Given the description of an element on the screen output the (x, y) to click on. 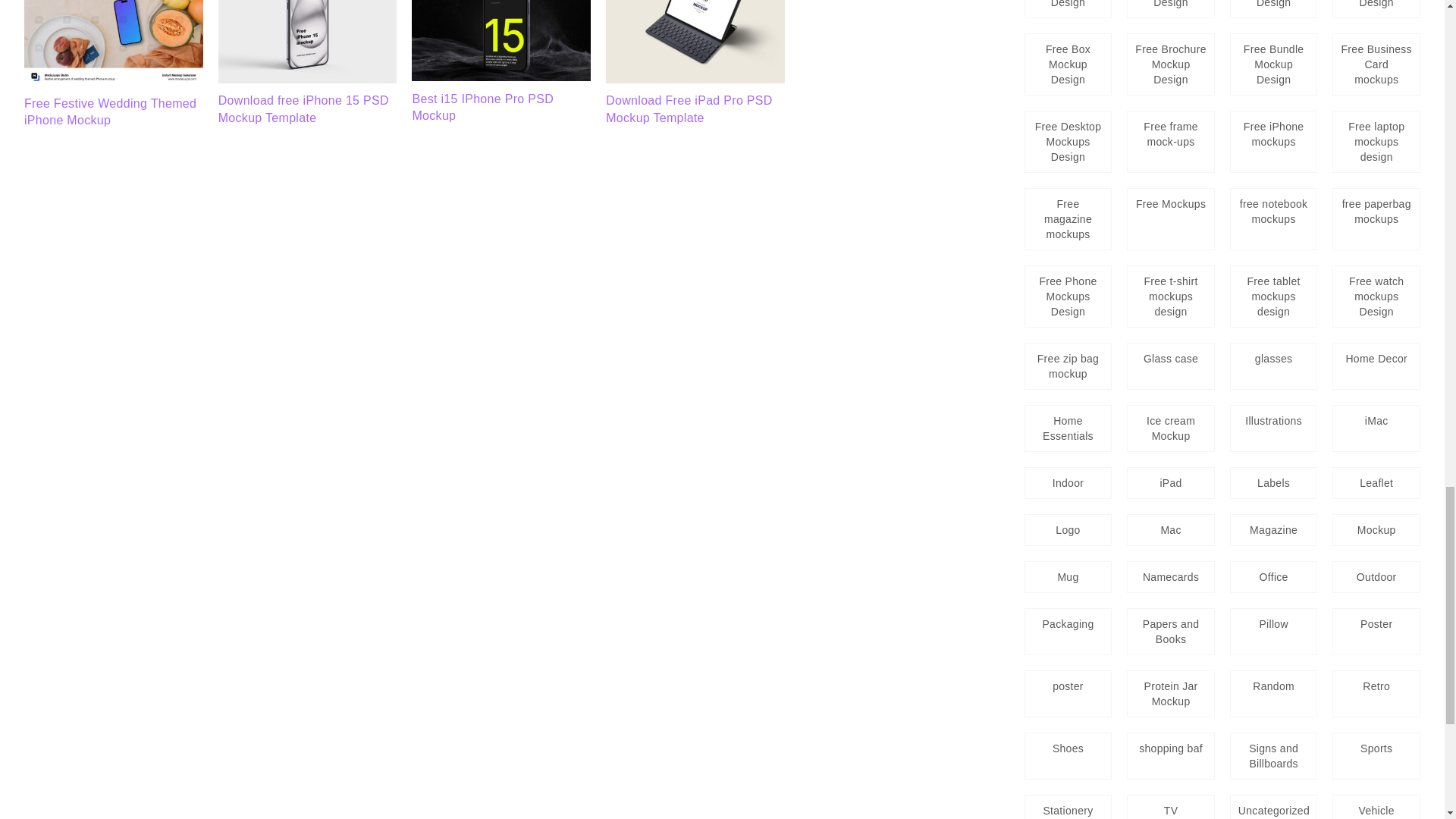
Download free iPhone 15 PSD Mockup Template (303, 108)
Free Festive Wedding Themed iPhone Mockup (110, 111)
Free White Box Packaging Truck PSD Mockup (307, 41)
Free Festive Wedding Themed iPhone Mockup (113, 81)
Download free iPhone 15 PSD Mockup Template (307, 78)
Best i15 IPhone Pro PSD Mockup (501, 76)
